Given the description of an element on the screen output the (x, y) to click on. 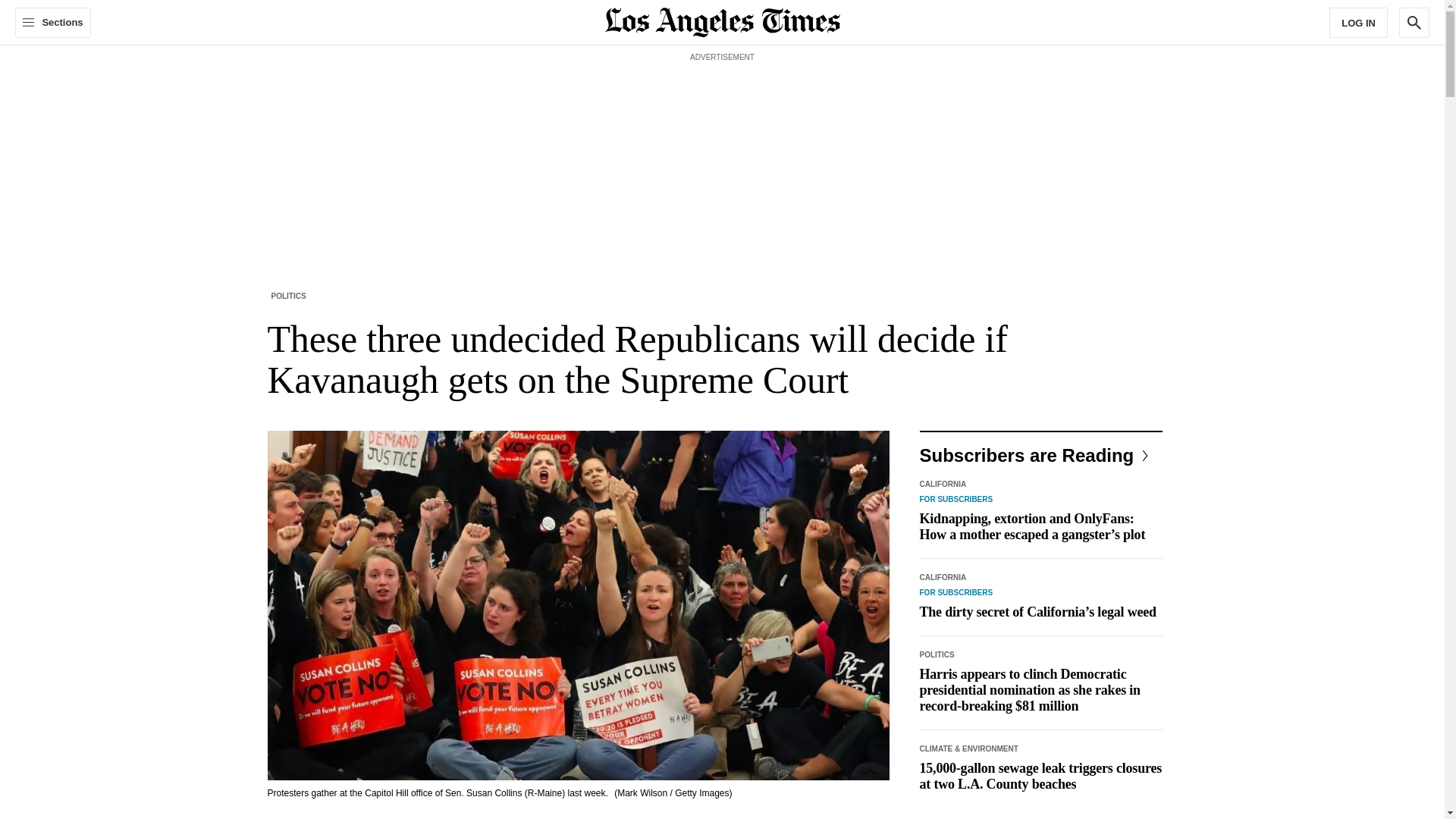
3rd party ad content (721, 100)
